Given the description of an element on the screen output the (x, y) to click on. 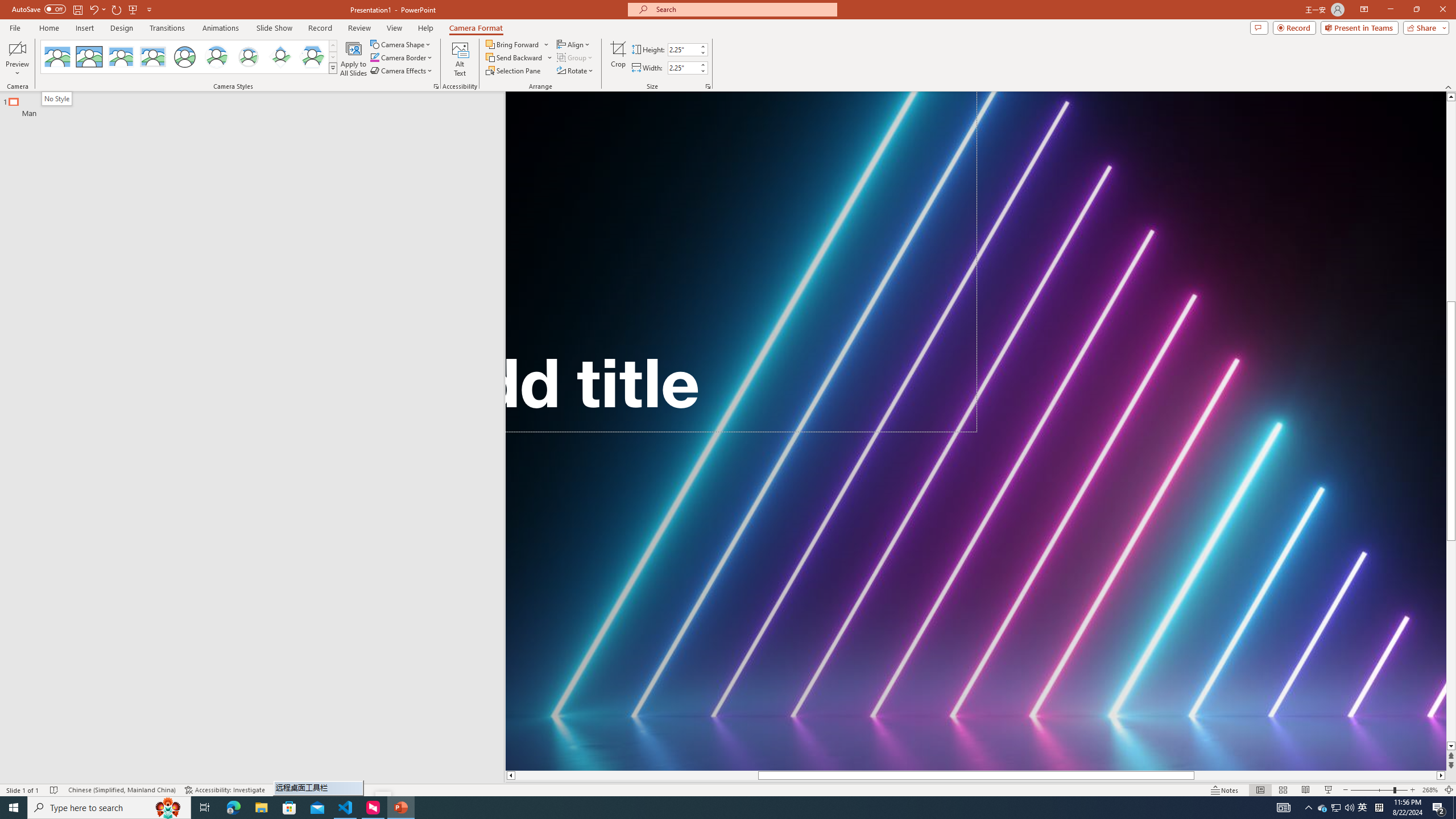
Cameo Height (682, 49)
Soft Edge Circle (248, 56)
Camera Styles (333, 67)
Send Backward (518, 56)
Bring Forward (517, 44)
Apply to All Slides (353, 58)
